Given the description of an element on the screen output the (x, y) to click on. 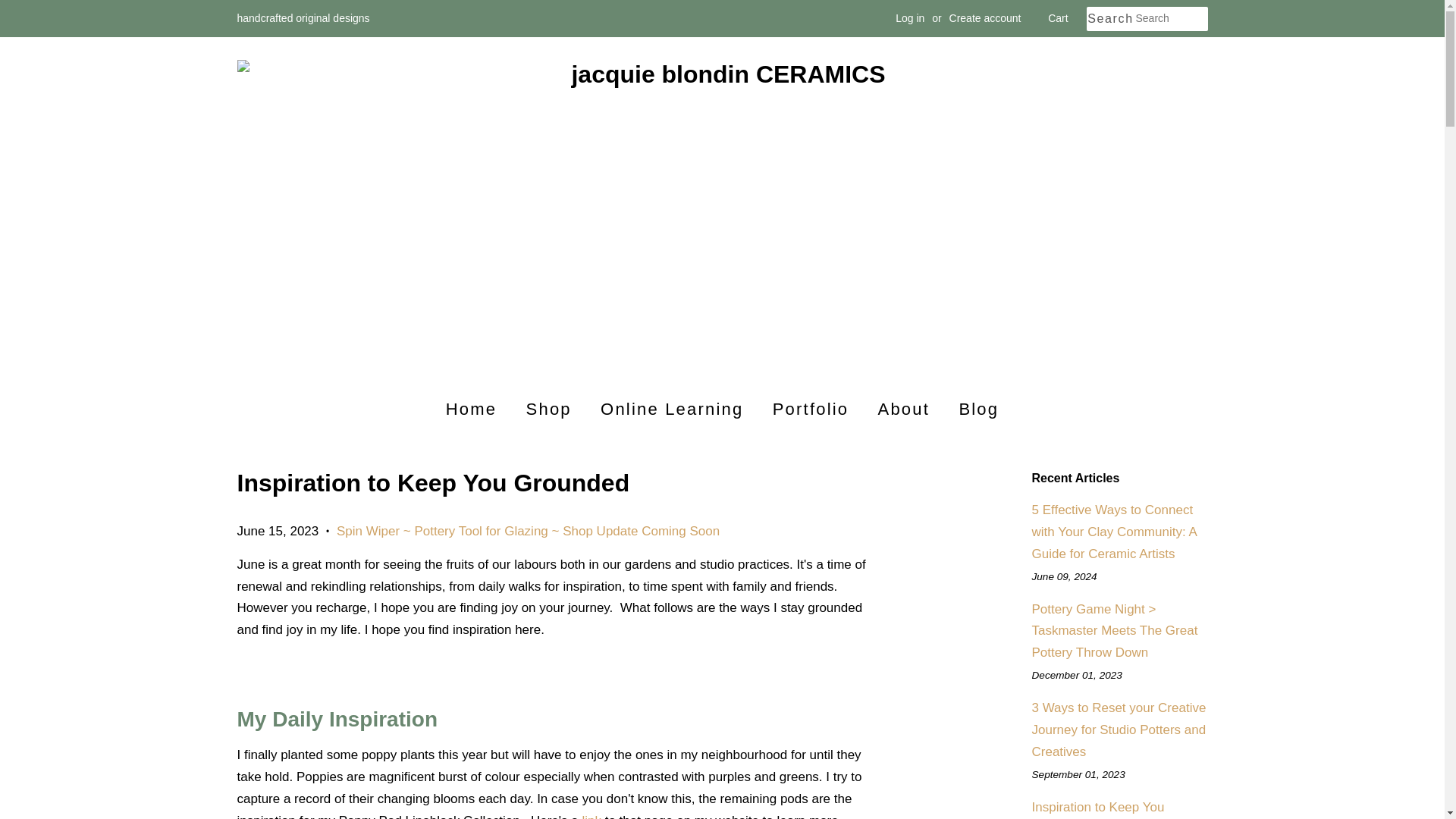
Home (476, 409)
Portfolio (810, 409)
Blog (972, 409)
Create account (985, 18)
About (904, 409)
Shop (549, 409)
Cart (1057, 18)
Online Learning (671, 409)
link (590, 816)
Search (1110, 18)
Log in (909, 18)
